Given the description of an element on the screen output the (x, y) to click on. 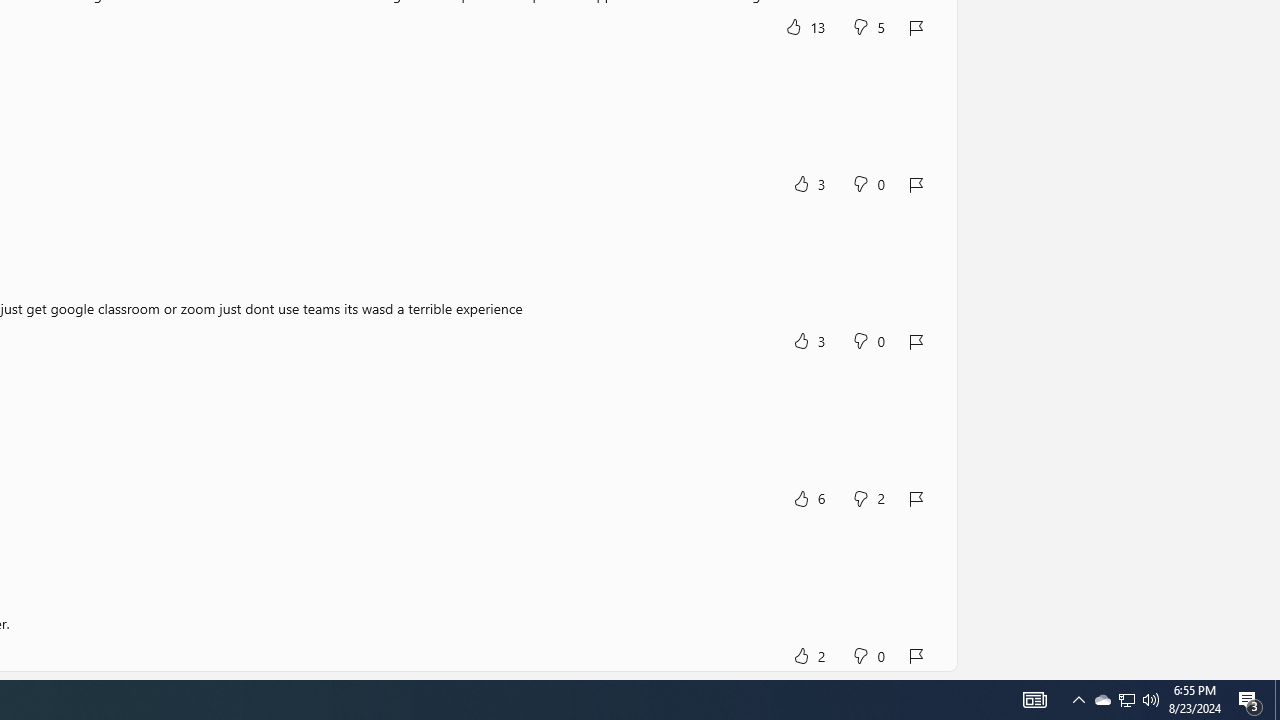
No, this was not helpful. 2 votes. (868, 498)
Report review (917, 655)
No, this was not helpful. 0 votes. (868, 655)
Yes, this was helpful. 3 votes. (807, 341)
Yes, this was helpful. 2 votes. (807, 655)
No, this was not helpful. 5 votes. (868, 25)
Yes, this was helpful. 6 votes. (807, 498)
Yes, this was helpful. 13 votes. (805, 25)
